Given the description of an element on the screen output the (x, y) to click on. 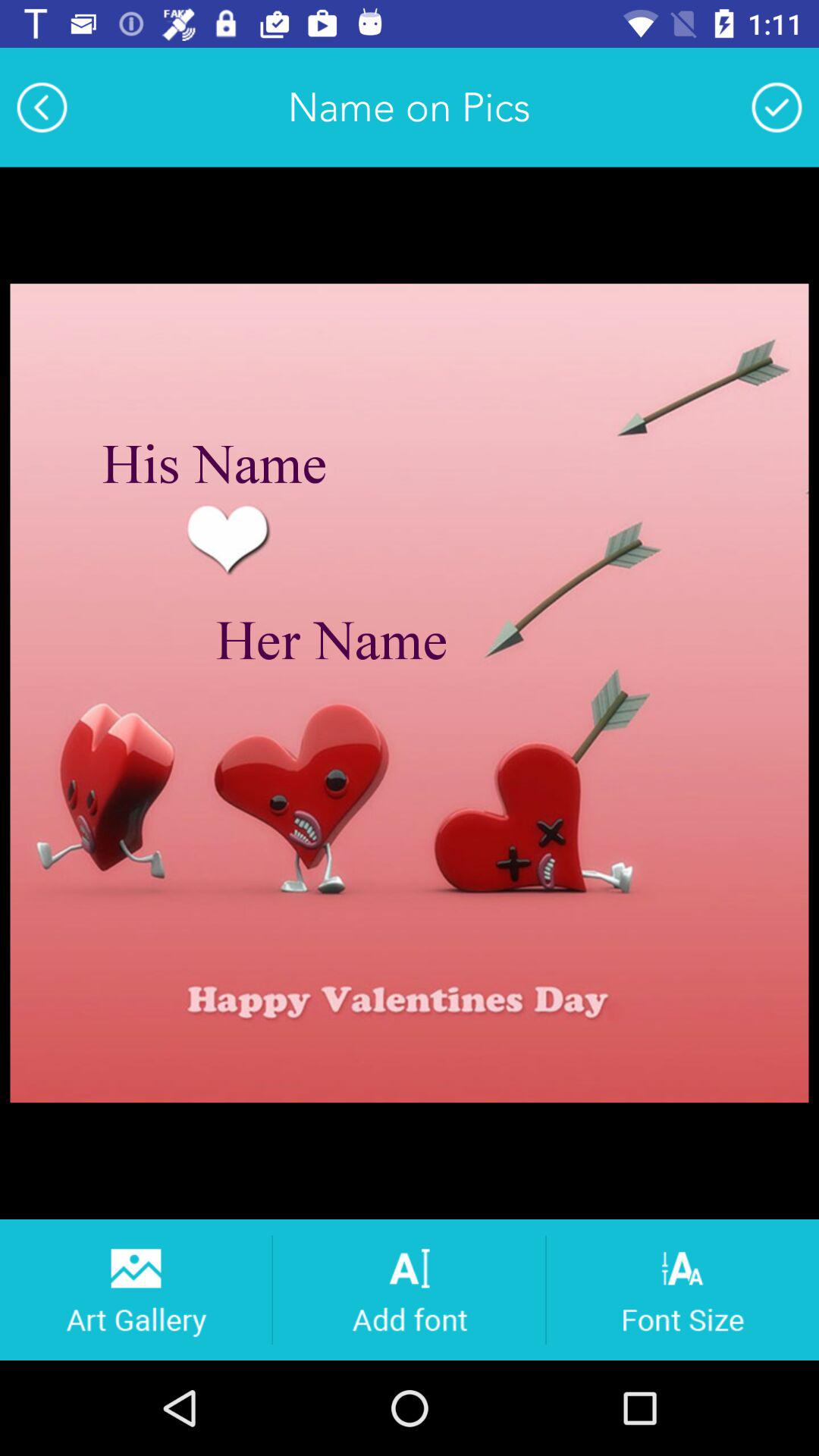
return to previous page (41, 107)
